Given the description of an element on the screen output the (x, y) to click on. 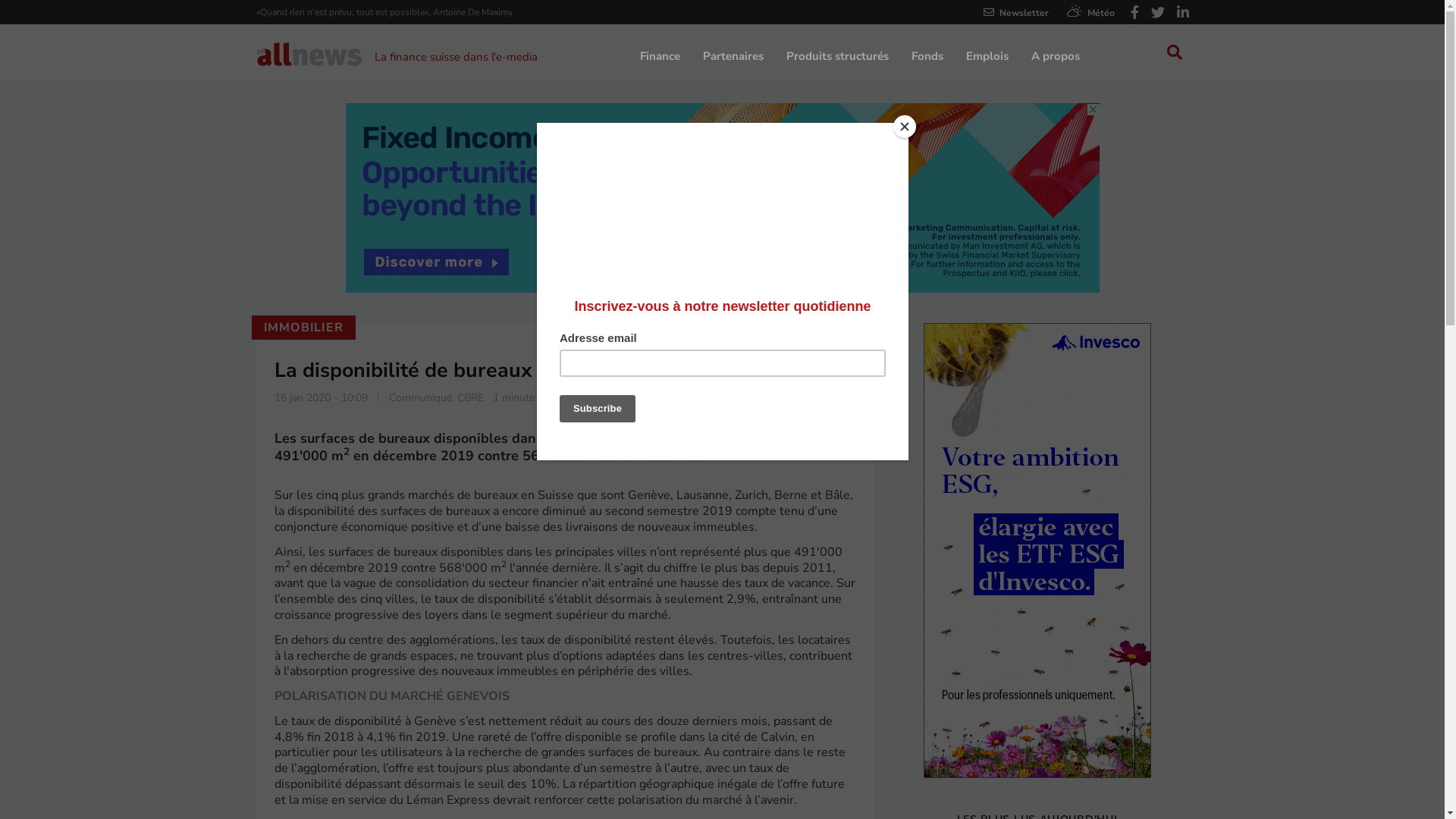
3rd party ad content Element type: hover (1037, 550)
Newsletter Element type: text (1015, 12)
Finance Element type: text (660, 52)
Linkedin Element type: text (1182, 12)
3rd party ad content Element type: hover (722, 197)
IMMOBILIER Element type: text (303, 327)
Partenaires Element type: text (732, 52)
Facebook Element type: text (1133, 12)
AFFICHER / MASQUER LE FORMULAIRE DE RECHERCHE Element type: text (1174, 53)
Allnews Element type: text (309, 52)
Fonds Element type: text (927, 52)
Twitter Element type: text (1157, 12)
Emplois Element type: text (987, 52)
A propos Element type: text (1055, 52)
